Given the description of an element on the screen output the (x, y) to click on. 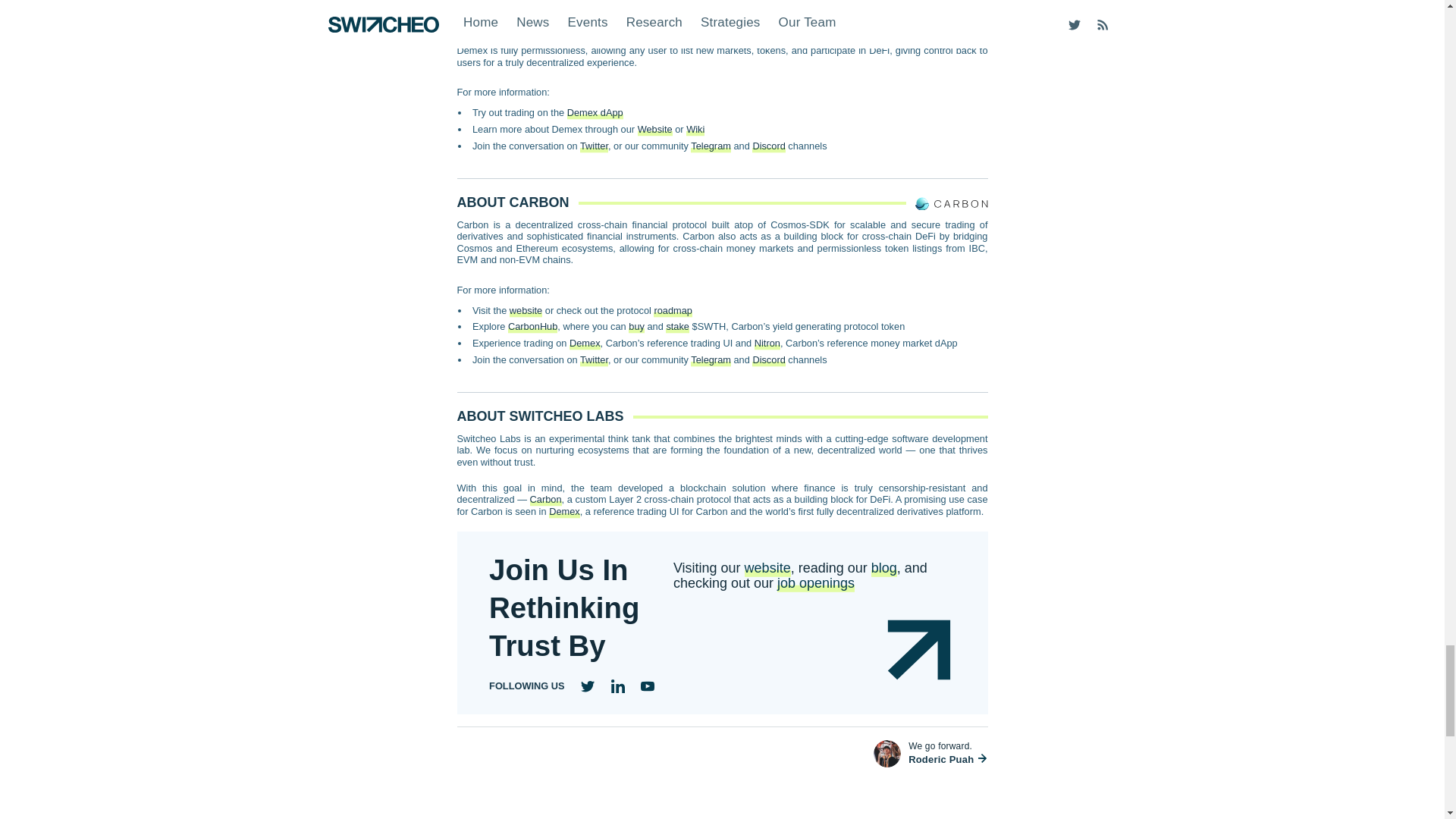
website (525, 310)
roadmap (673, 310)
Demex dApp (595, 112)
CarbonHub (532, 326)
Telegram (710, 145)
buy (636, 326)
Discord (768, 145)
Twitter (593, 145)
Website (654, 129)
Wiki (694, 129)
Carbon (886, 3)
